Given the description of an element on the screen output the (x, y) to click on. 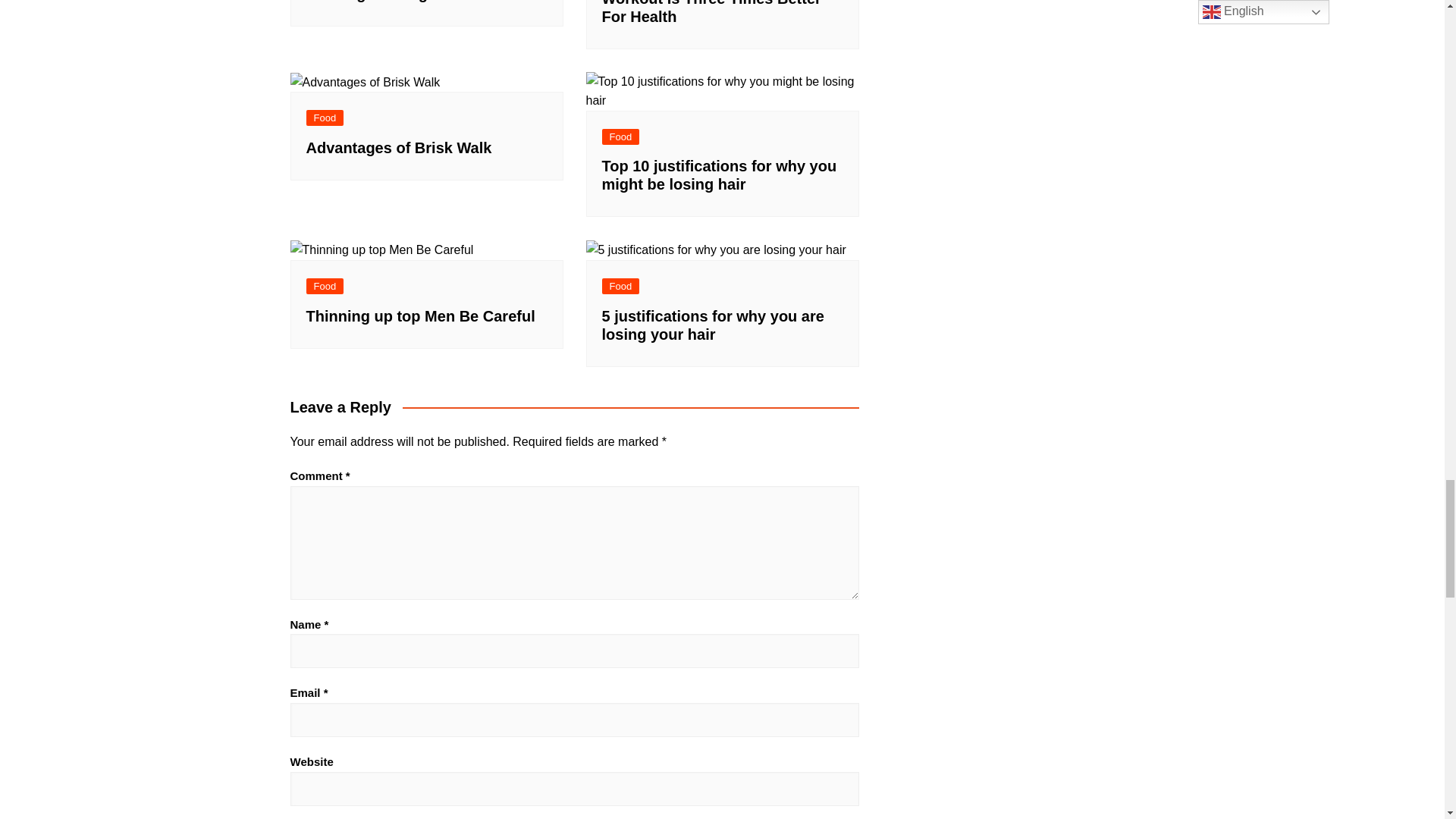
Advantages of Brisk Walk (364, 82)
Top 10 justifications for why you might be losing hair (722, 91)
5 justifications for why you are losing your hair (715, 250)
Thinning up top Men Be Careful (381, 250)
